Given the description of an element on the screen output the (x, y) to click on. 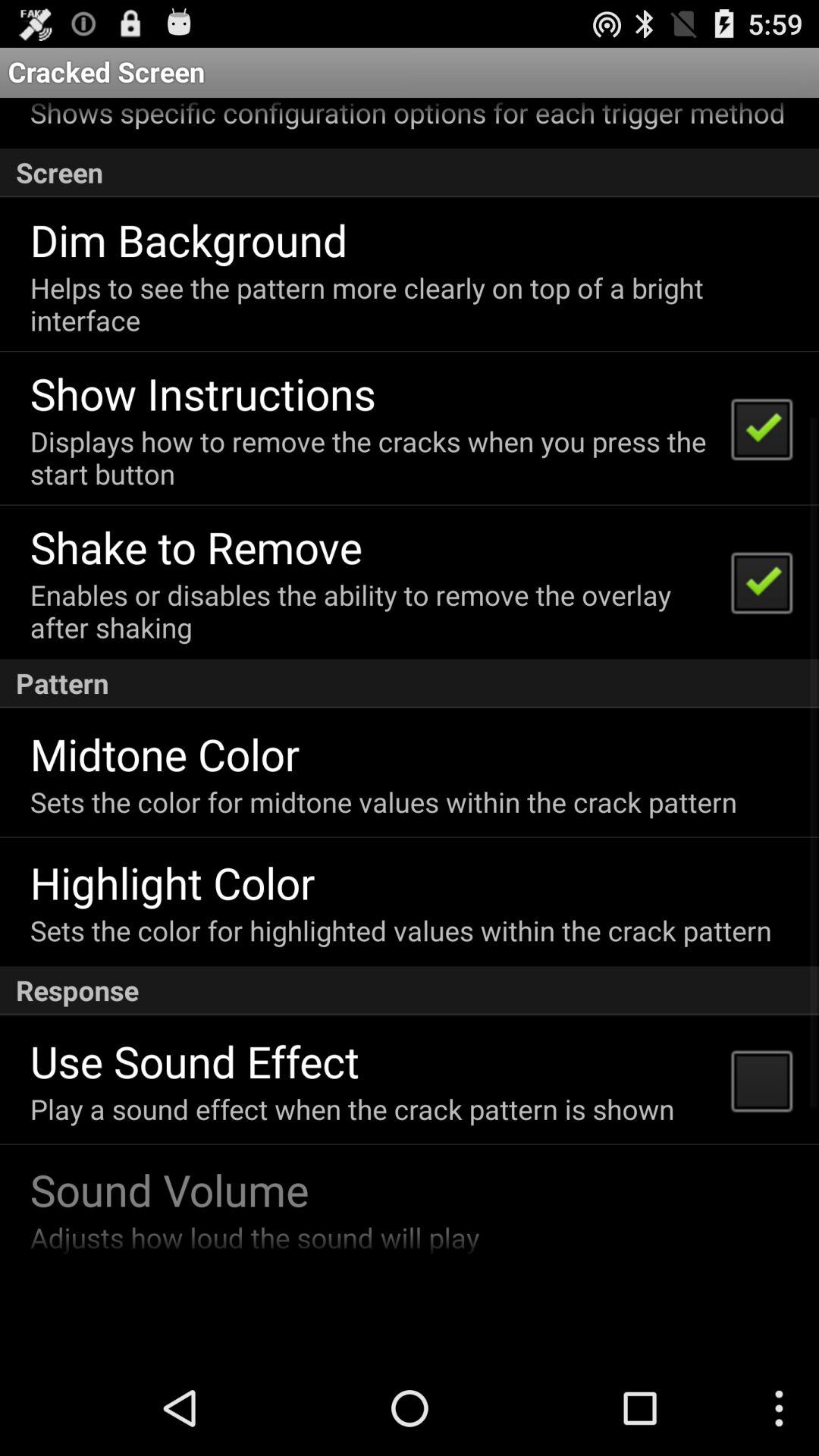
turn on the helps to see item (408, 303)
